Given the description of an element on the screen output the (x, y) to click on. 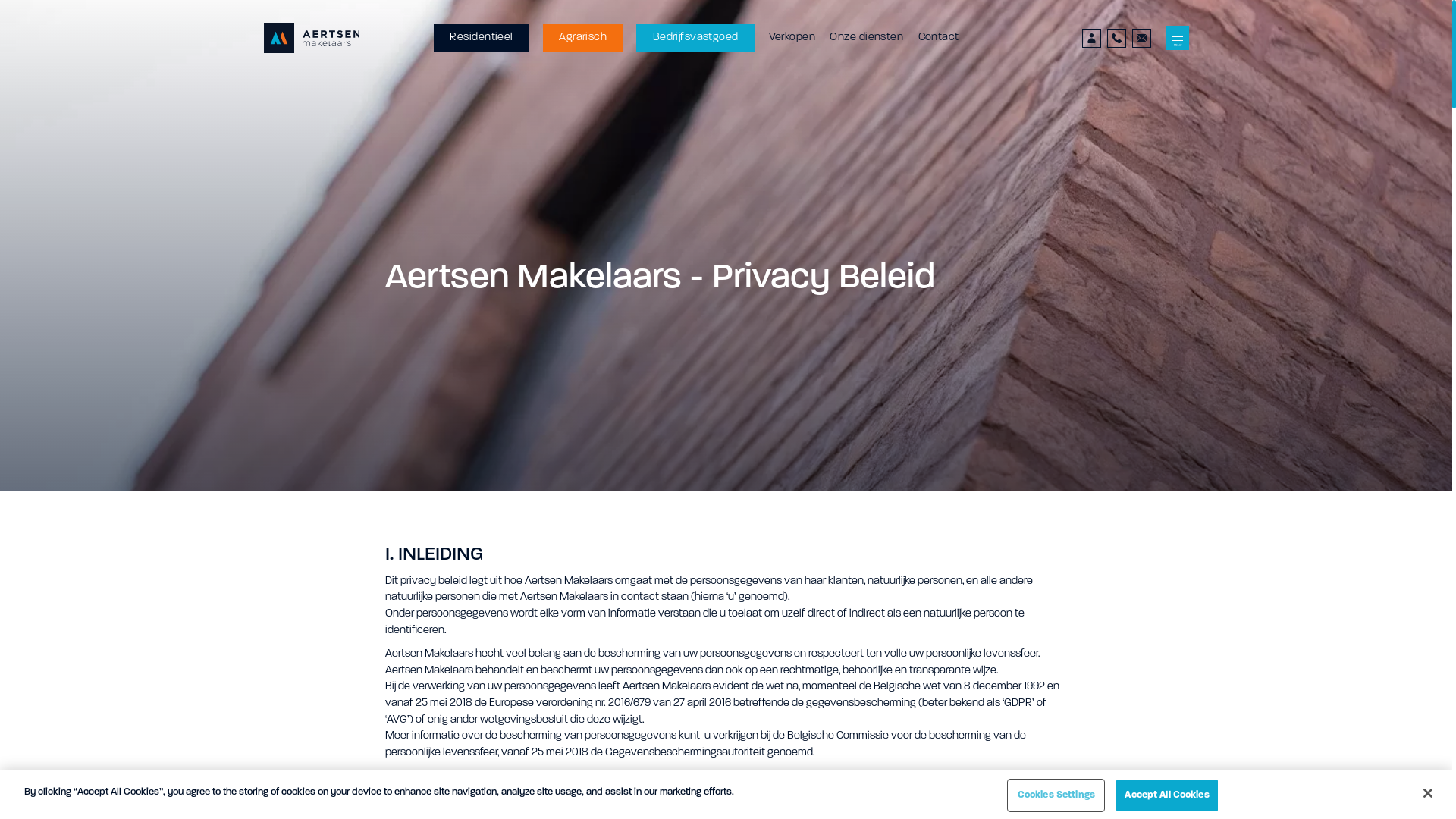
Accept All Cookies Element type: text (1166, 795)
Verkopen Element type: text (791, 37)
Mail ons Element type: hover (1141, 37)
Je houvast in vastgoed. Element type: hover (311, 37)
Gebruikerslogin Element type: hover (1091, 37)
Residentieel Element type: text (481, 37)
Agrarisch Element type: text (582, 37)
Cookies Settings Element type: text (1055, 795)
Bedrijfsvastgoed Element type: text (695, 37)
Onze diensten Element type: text (865, 37)
Bel ons Element type: hover (1116, 37)
Contact Element type: text (938, 37)
